Given the description of an element on the screen output the (x, y) to click on. 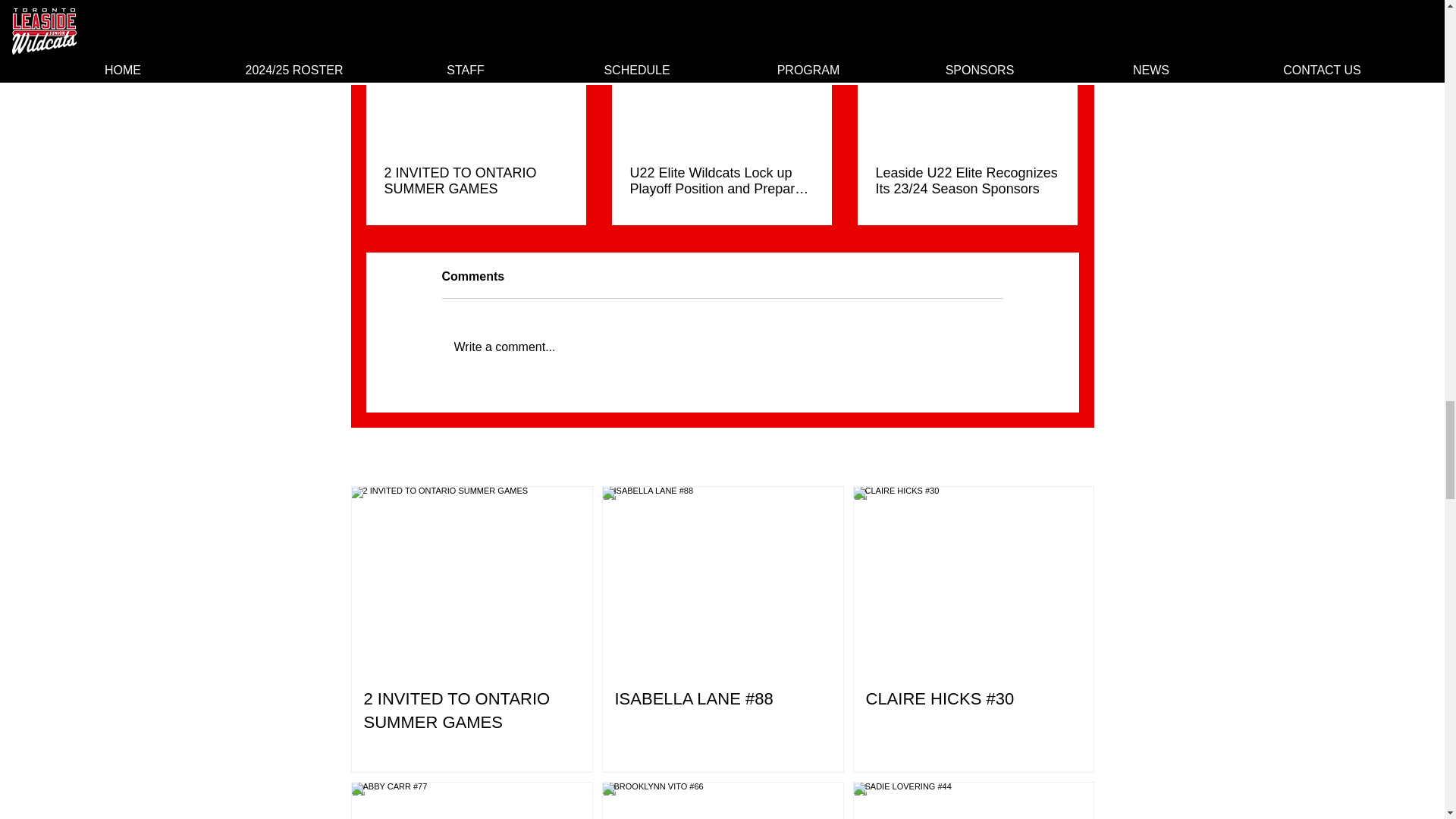
2 INVITED TO ONTARIO SUMMER GAMES (475, 181)
